Given the description of an element on the screen output the (x, y) to click on. 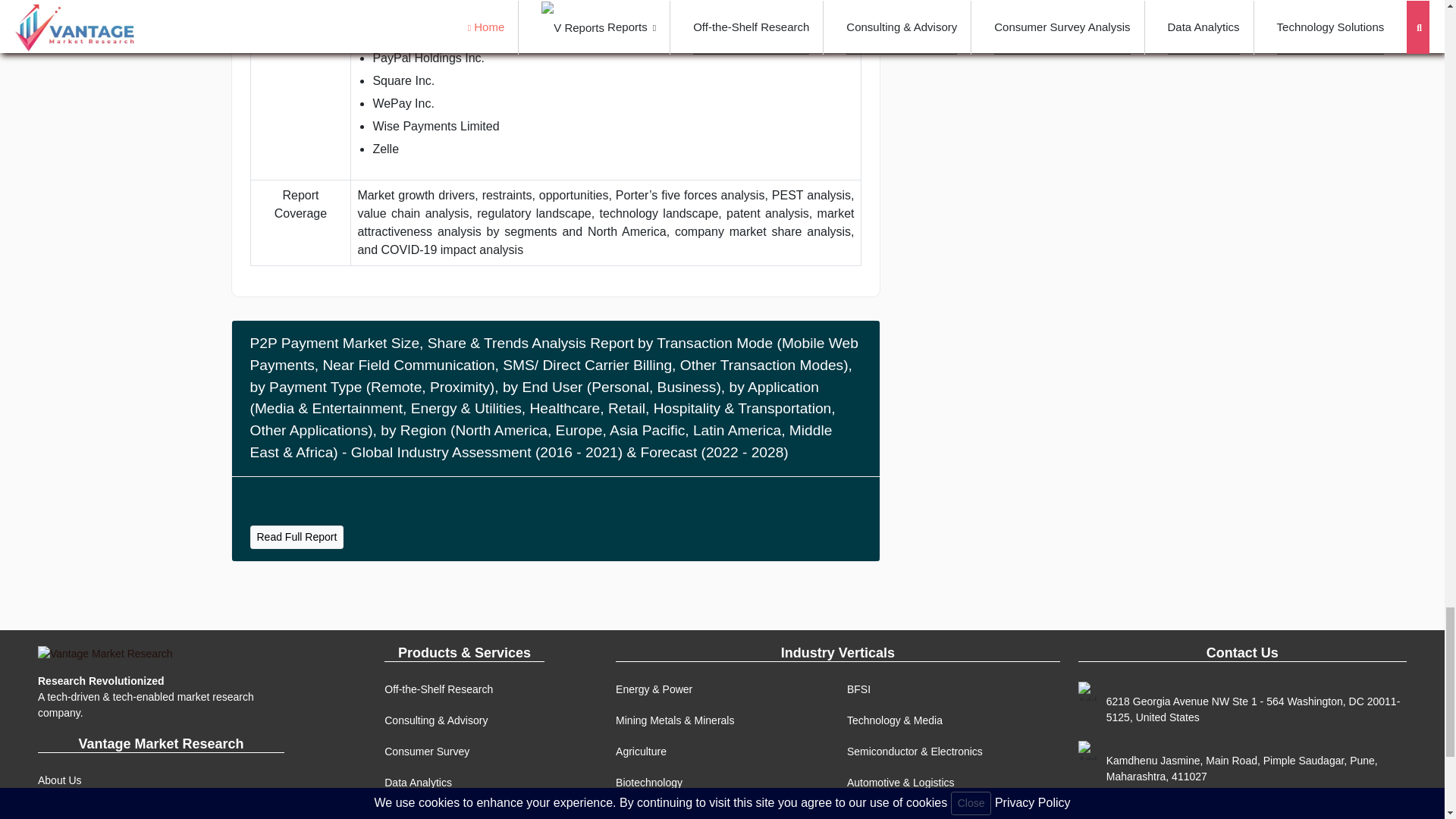
Read Full Report (296, 536)
